Given the description of an element on the screen output the (x, y) to click on. 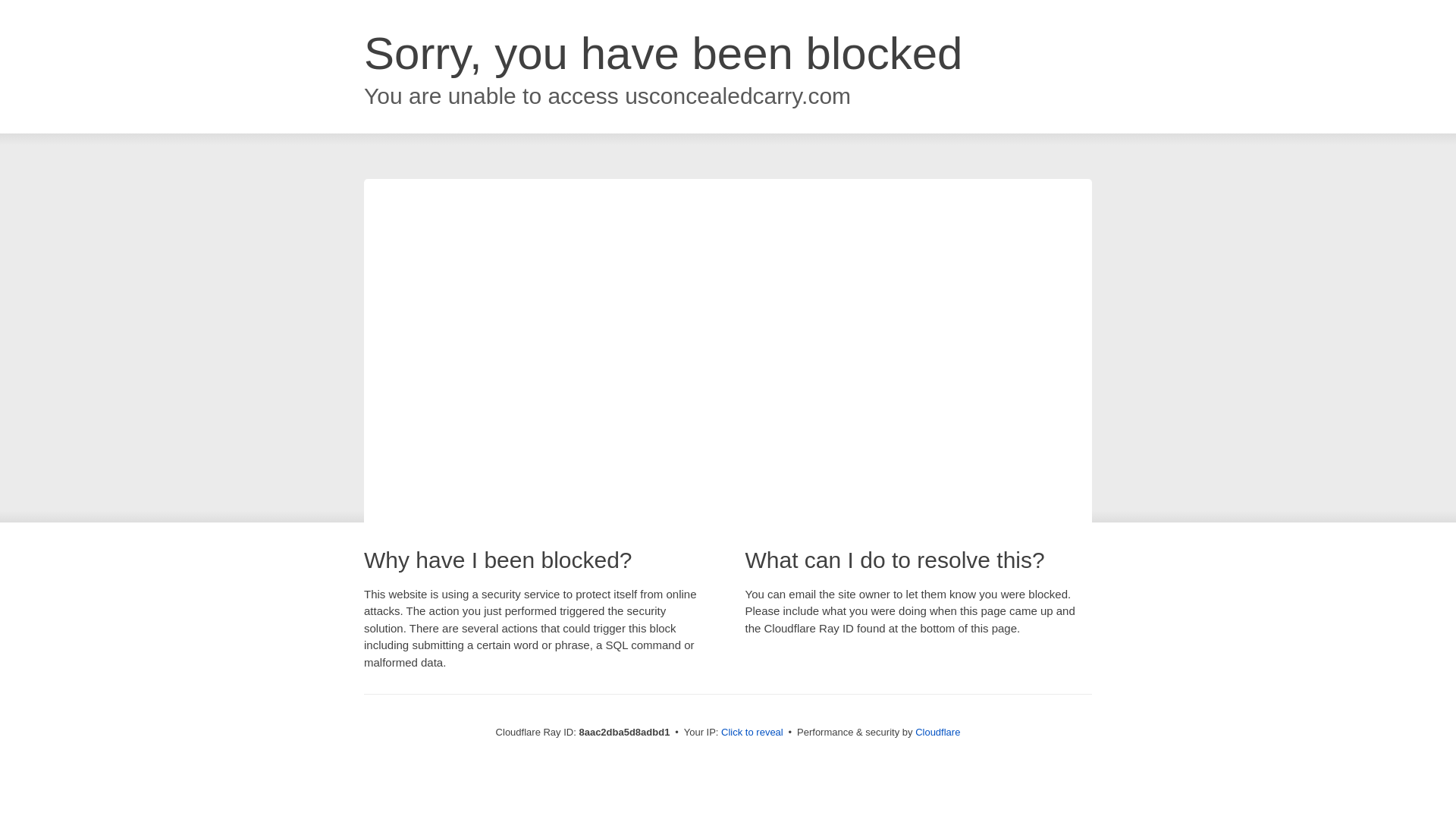
Click to reveal (751, 732)
Cloudflare (937, 731)
